Given the description of an element on the screen output the (x, y) to click on. 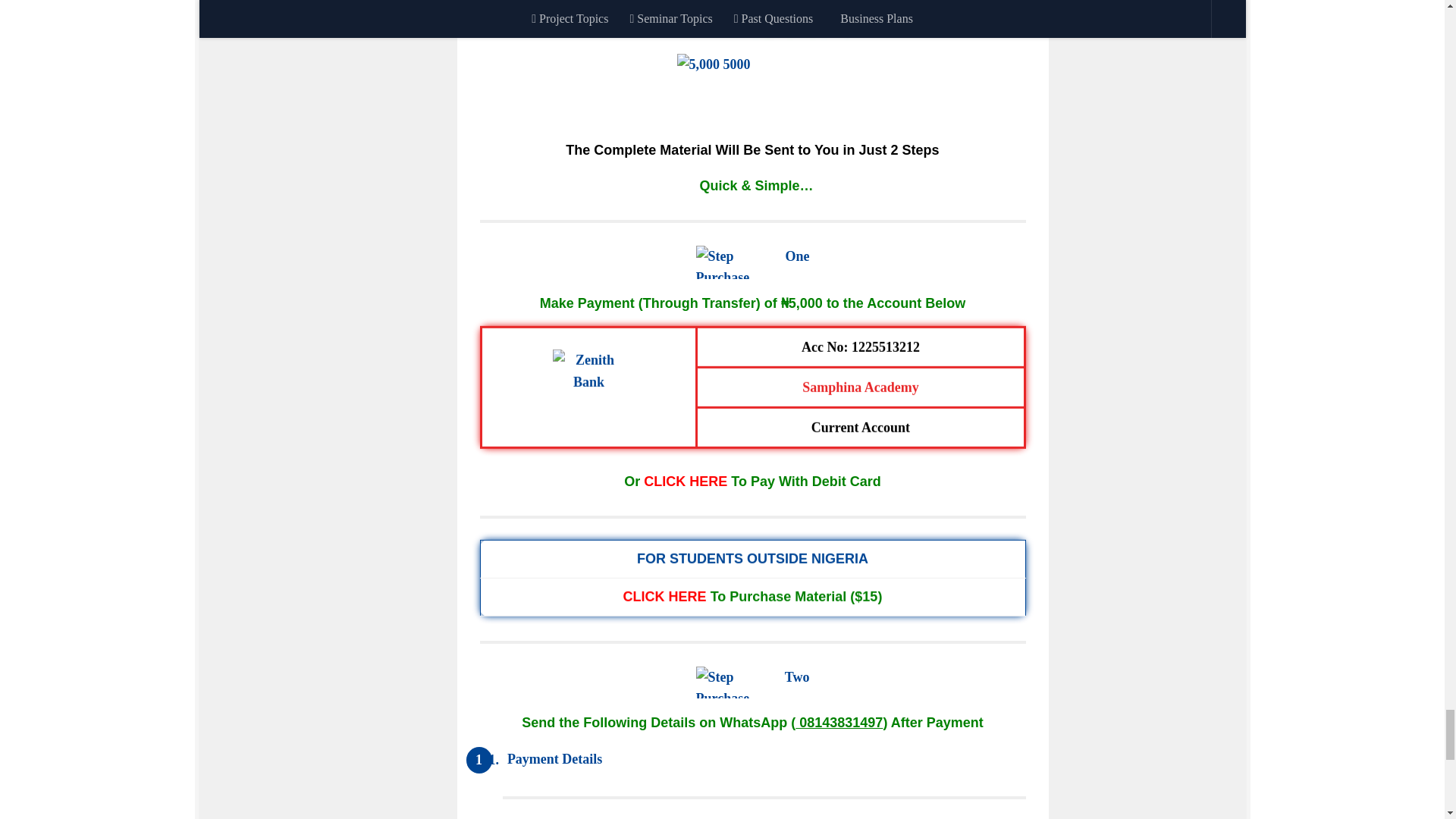
CLICK HERE (664, 595)
CLICK HERE (684, 481)
08143831497 (838, 722)
